Given the description of an element on the screen output the (x, y) to click on. 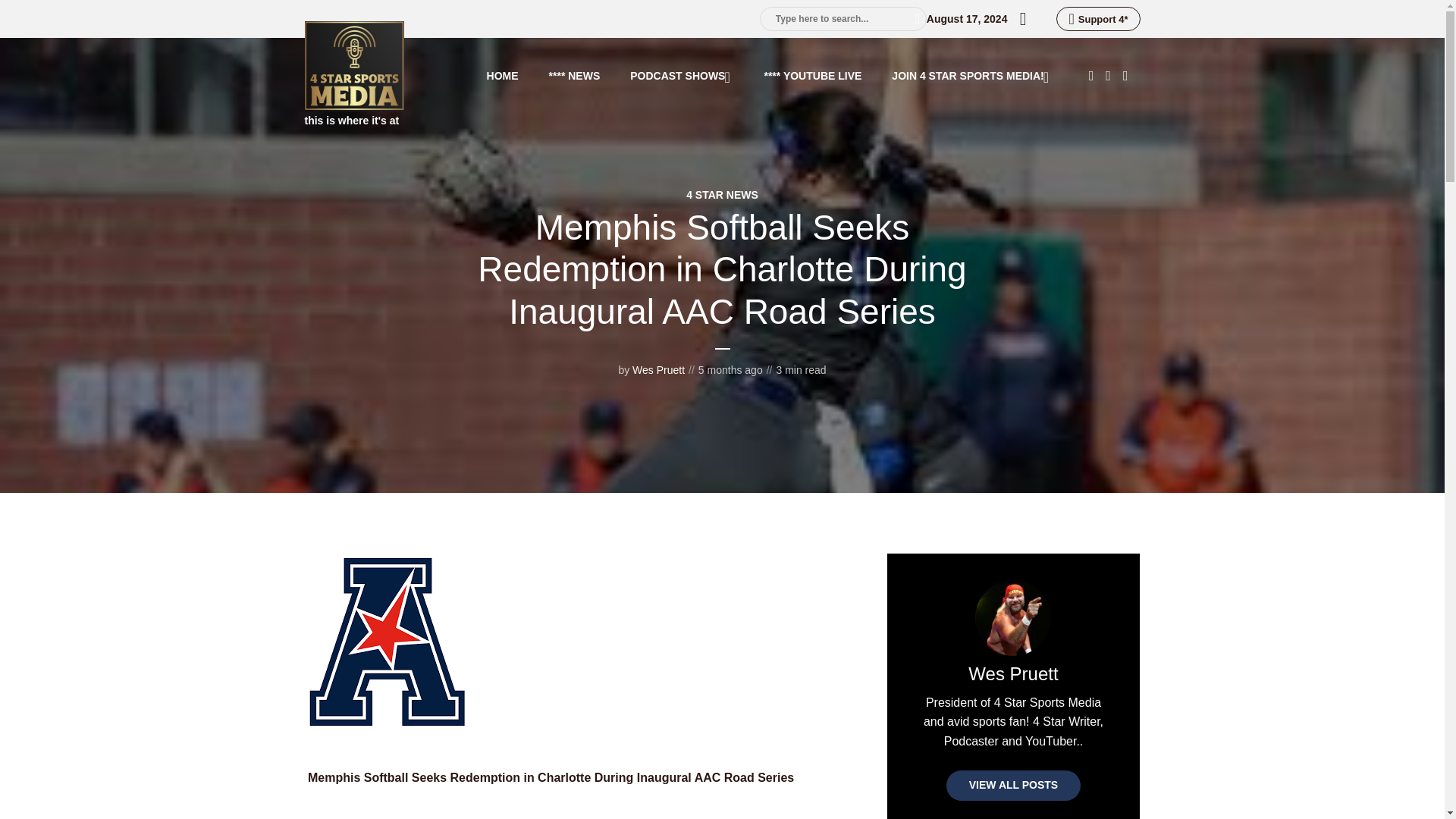
PODCAST SHOWS (681, 75)
SEARCH (912, 18)
JOIN 4 STAR SPORTS MEDIA! (971, 75)
